Given the description of an element on the screen output the (x, y) to click on. 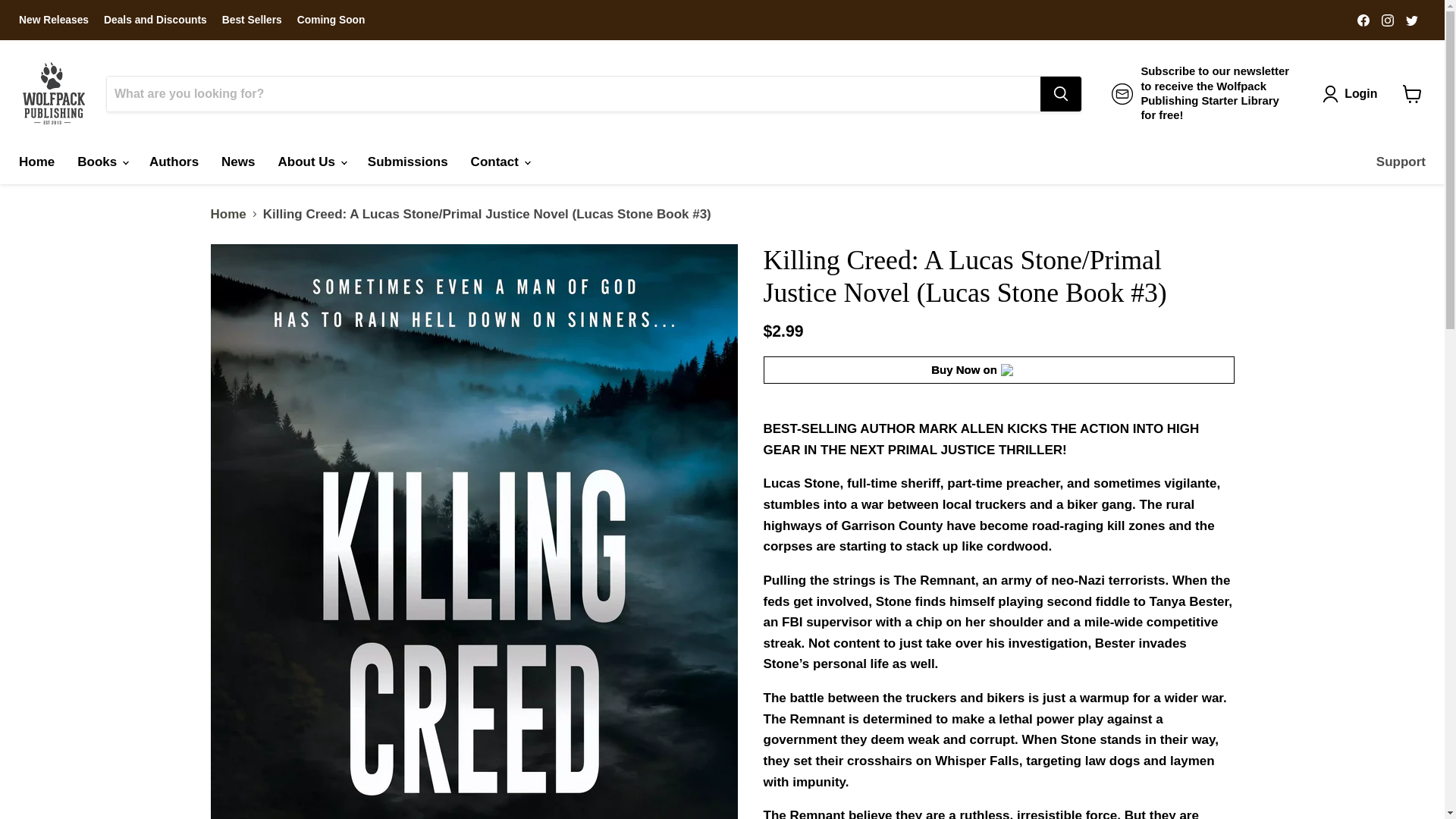
Best Sellers (252, 20)
Deals and Discounts (154, 20)
Find us on Twitter (1411, 19)
Facebook (1363, 19)
Login (1353, 93)
Coming Soon (331, 20)
New Releases (53, 20)
Instagram (1387, 19)
Home (36, 161)
Find us on Facebook (1363, 19)
